Given the description of an element on the screen output the (x, y) to click on. 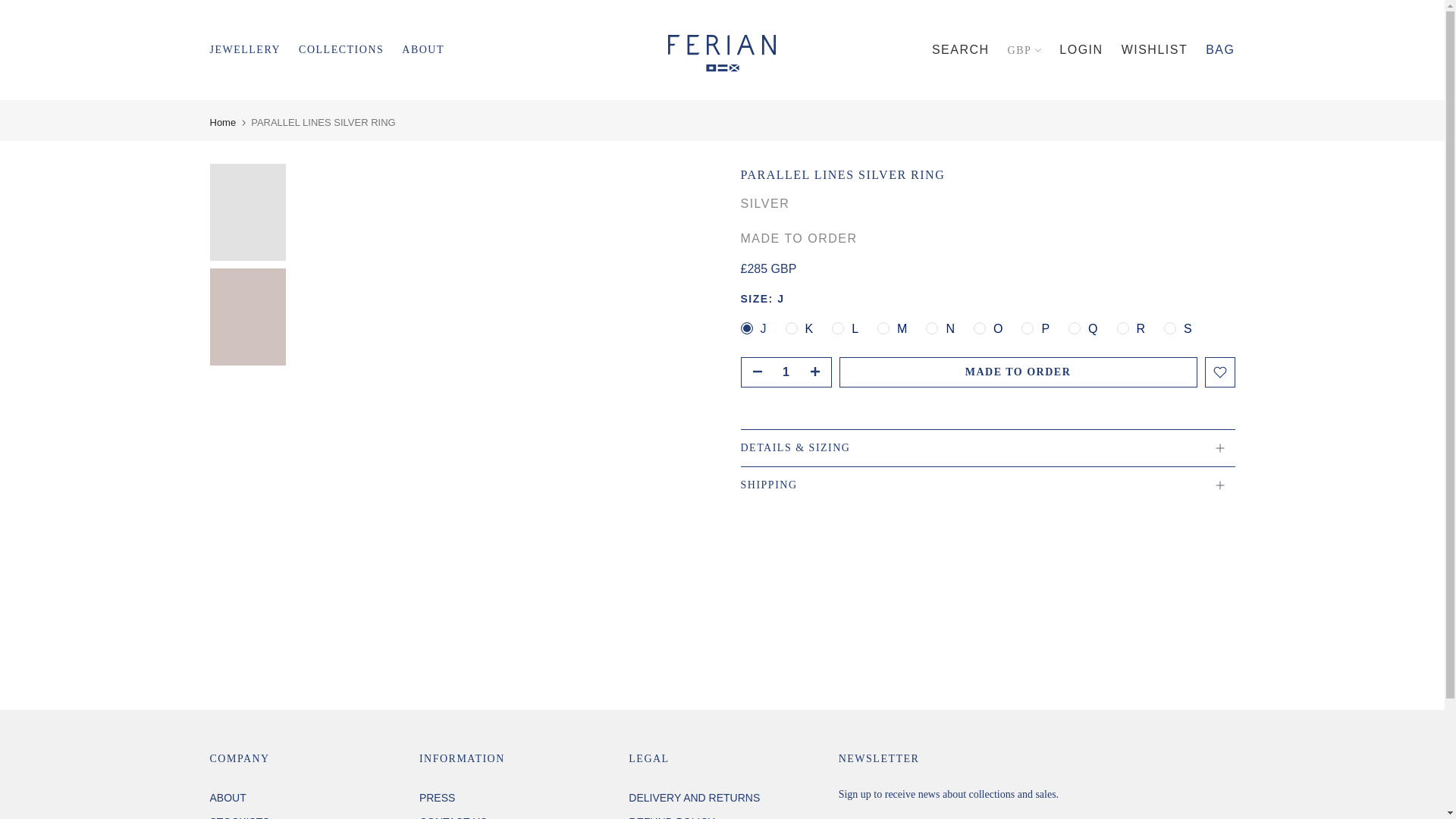
Skip to content (10, 7)
1 (786, 371)
COLLECTIONS (349, 50)
JEWELLERY (253, 50)
ABOUT (422, 50)
SEARCH (960, 49)
GBP (1024, 50)
